Given the description of an element on the screen output the (x, y) to click on. 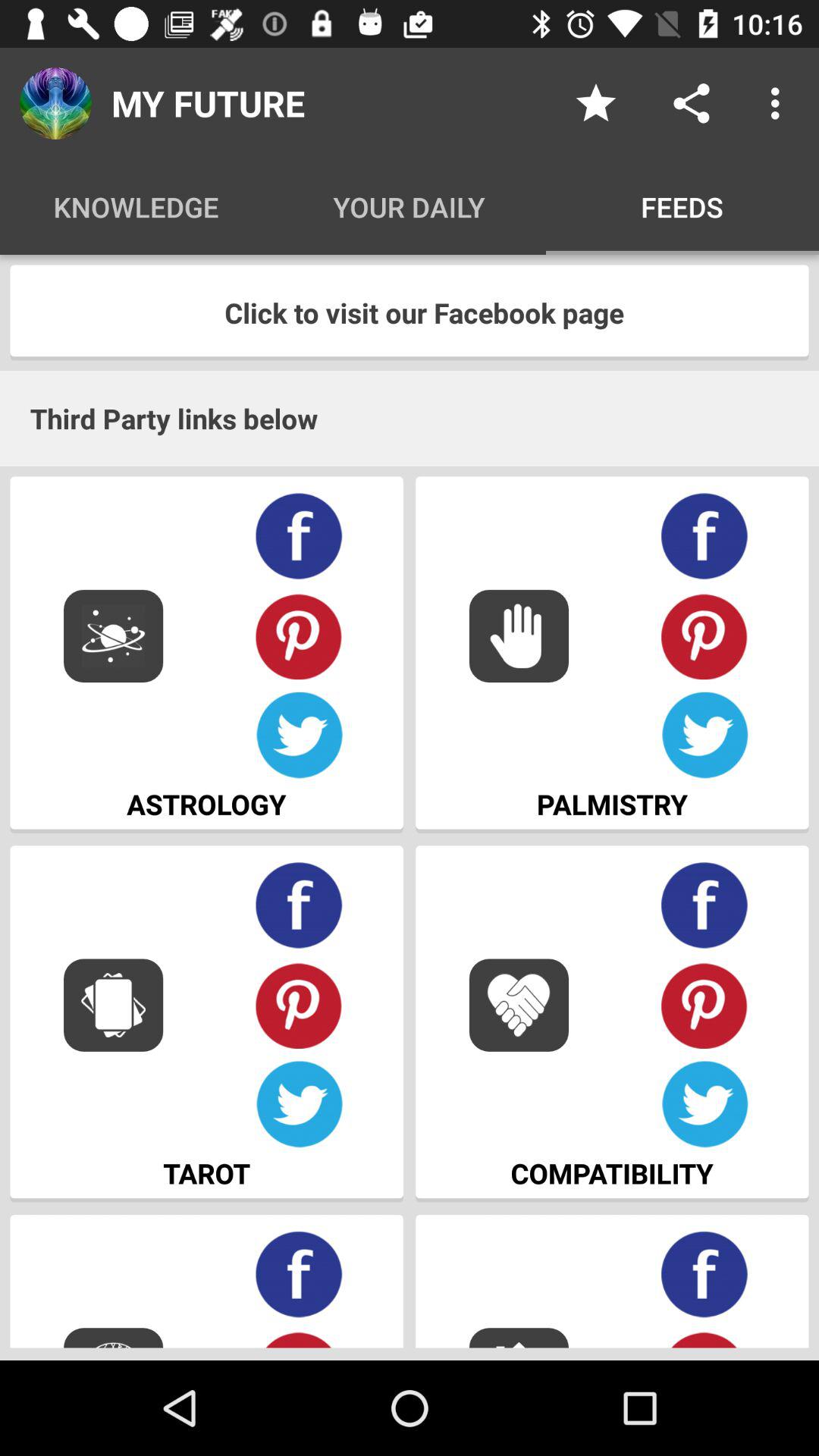
open pintrest (704, 1005)
